Given the description of an element on the screen output the (x, y) to click on. 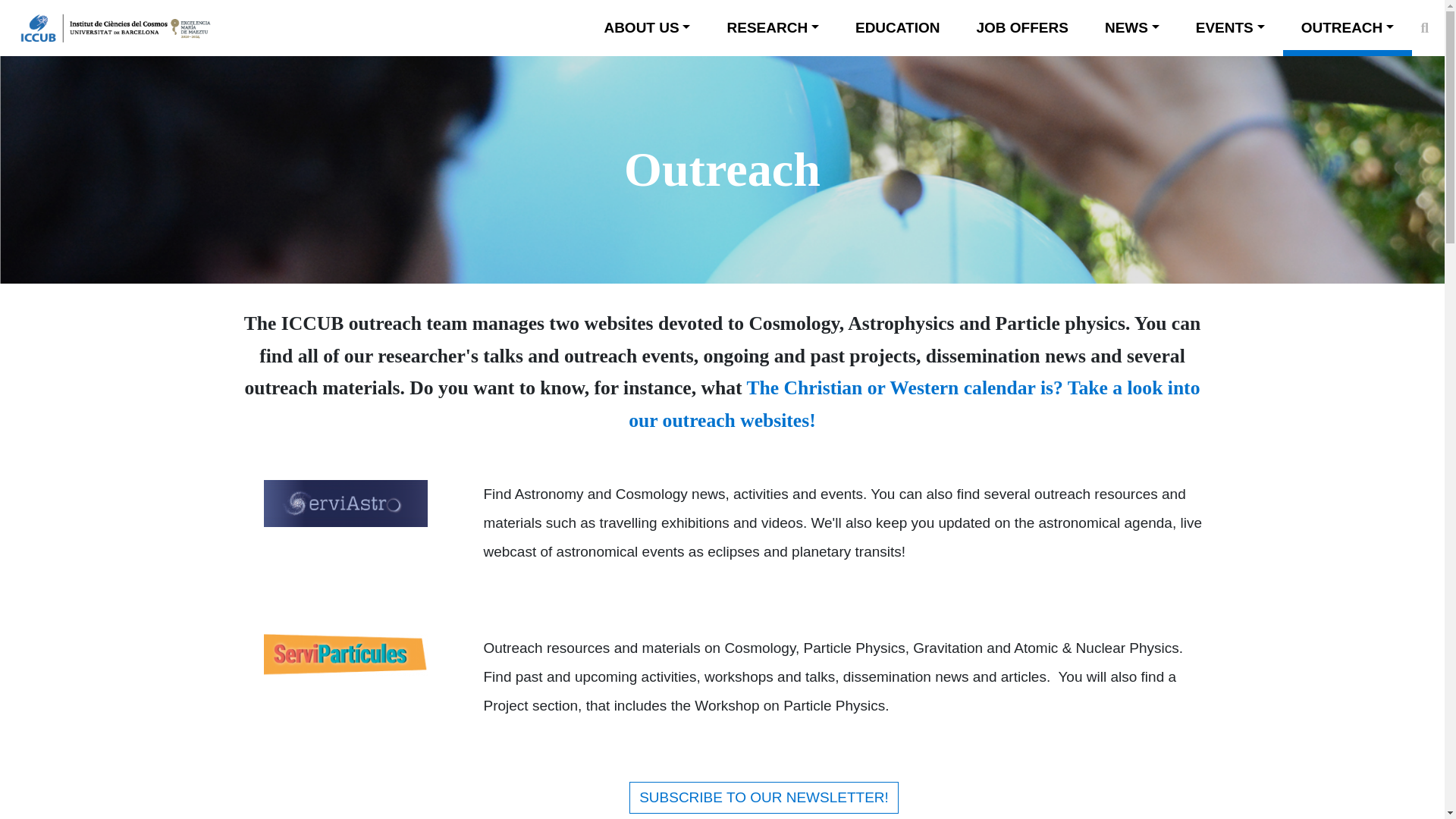
ABOUT US (645, 27)
RESEARCH (772, 27)
OUTREACH (1347, 27)
Home (109, 27)
EDUCATION (897, 27)
JOB OFFERS (1022, 27)
NEWS (1132, 27)
EVENTS (1230, 27)
